Given the description of an element on the screen output the (x, y) to click on. 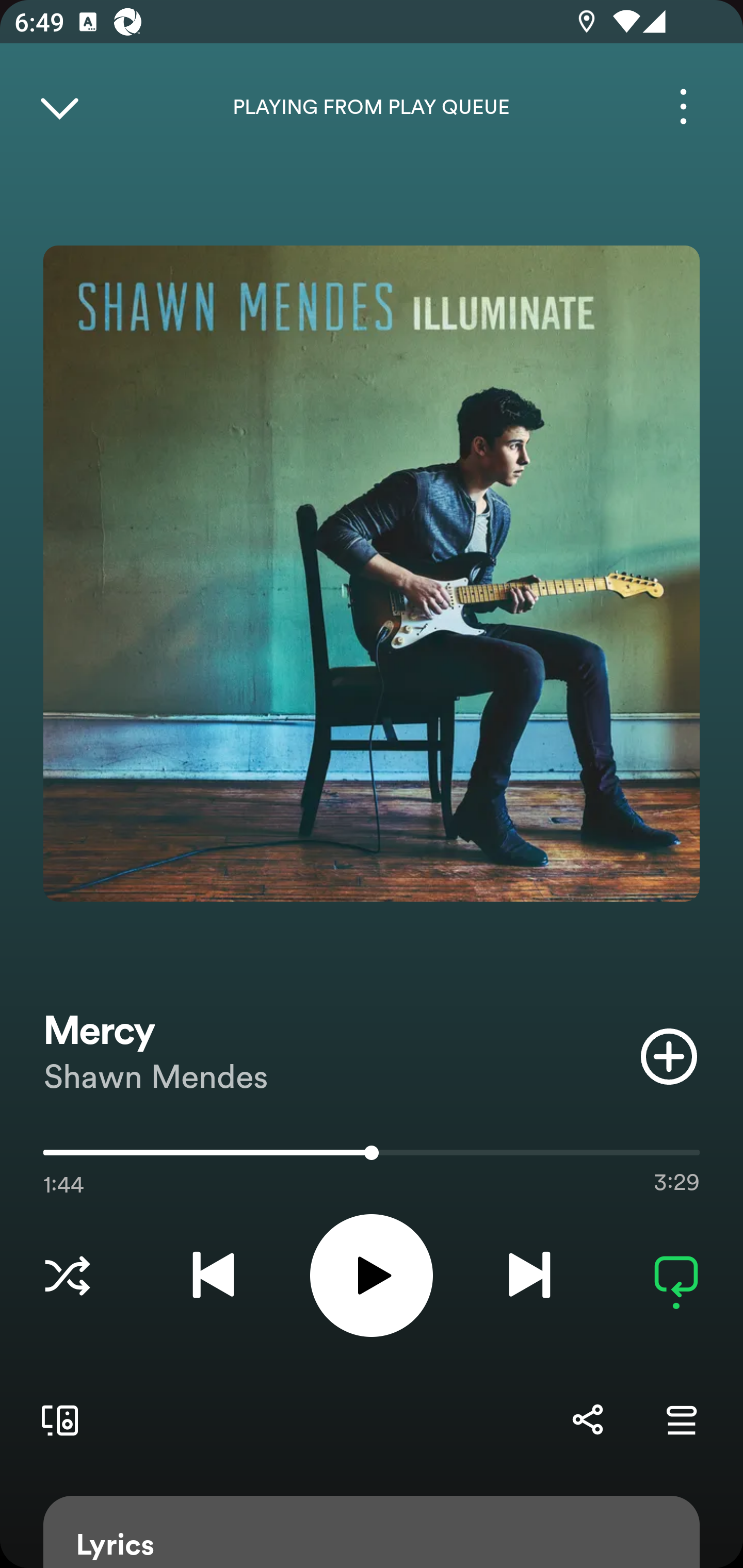
Close (59, 106)
More options for song Mercy (683, 106)
PLAYING FROM PLAY QUEUE (371, 107)
Add item (669, 1056)
1:44 3:29 104500.0 Use volume keys to adjust (371, 1157)
Play (371, 1275)
Previous (212, 1275)
Next (529, 1275)
Choose a Listening Mode (66, 1275)
Repeat (676, 1275)
Share (587, 1419)
Go to Queue (681, 1419)
Connect to a device. Opens the devices menu (55, 1419)
Lyrics (371, 1531)
